Given the description of an element on the screen output the (x, y) to click on. 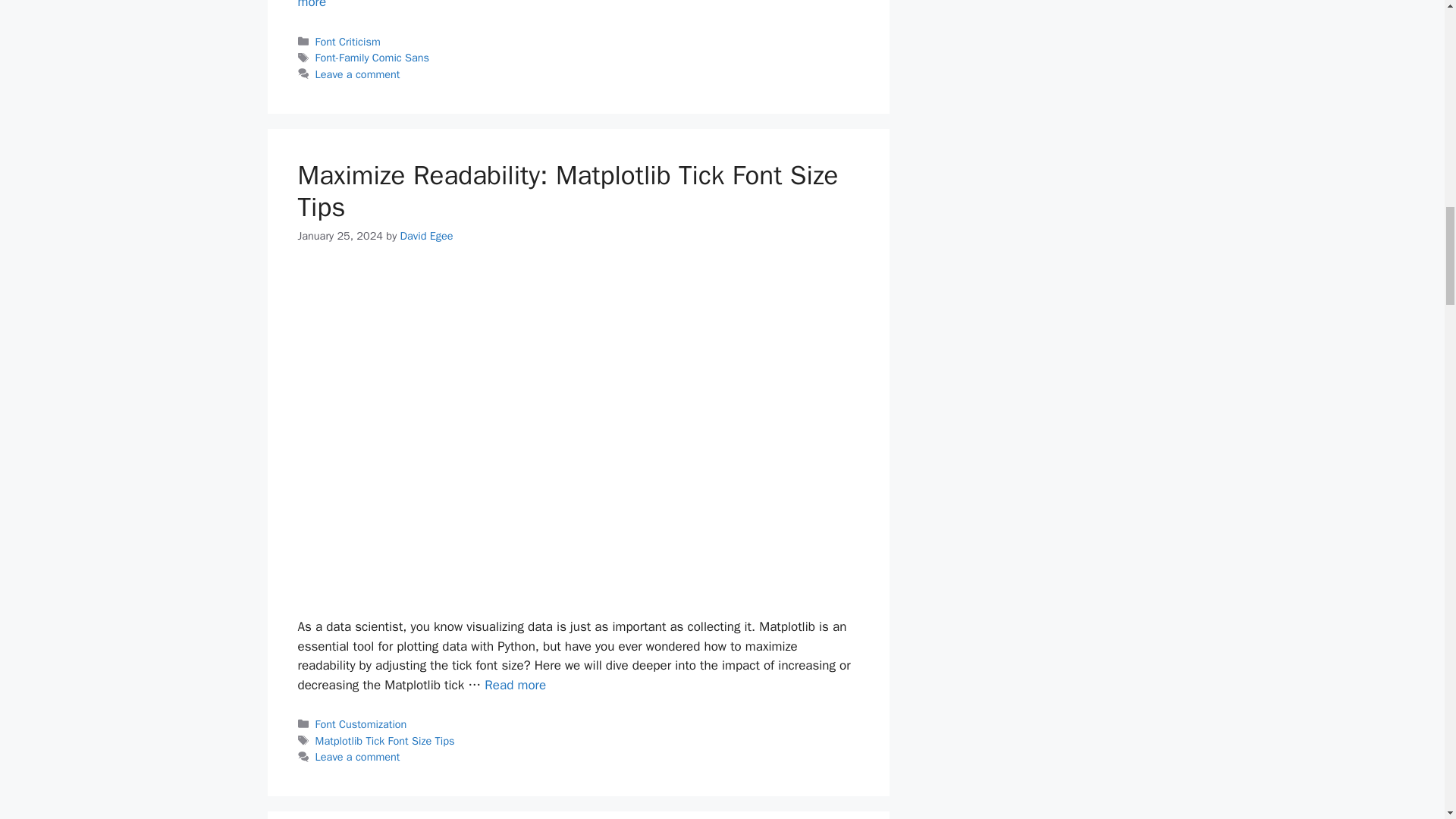
Maximize Readability: Matplotlib Tick Font Size Tips (567, 190)
View all posts by David Egee (426, 235)
Font-Family Comic Sans: A Controversial Typeface (575, 5)
Read more (515, 684)
Leave a comment (357, 74)
Read more (575, 5)
Font Customization (361, 724)
David Egee (426, 235)
Font Criticism (347, 41)
Matplotlib Tick Font Size Tips (384, 740)
Leave a comment (357, 756)
Maximize Readability: Matplotlib Tick Font Size Tips (515, 684)
Font-Family Comic Sans (372, 57)
